Given the description of an element on the screen output the (x, y) to click on. 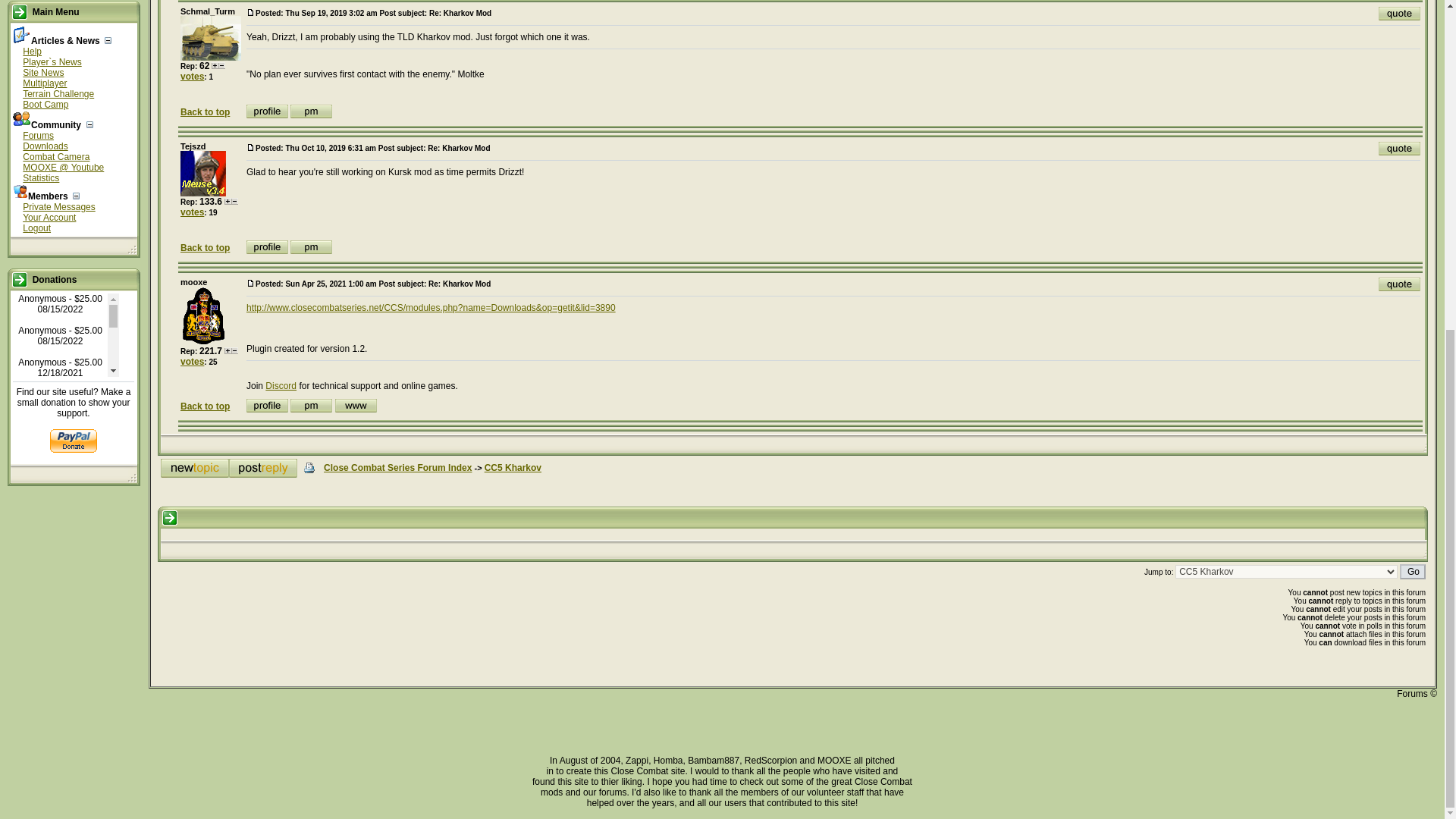
Combat Camera (55, 156)
Terrain Challenge (58, 93)
Reply with quote (1399, 13)
View user's profile (267, 246)
Forums (38, 135)
Post (251, 147)
Send private message (310, 110)
Site News (43, 72)
Downloads (44, 145)
Reply with quote (1399, 148)
Post (251, 12)
Private Messages (58, 206)
Multiplayer (44, 82)
View user's profile (267, 110)
Help (32, 50)
